Given the description of an element on the screen output the (x, y) to click on. 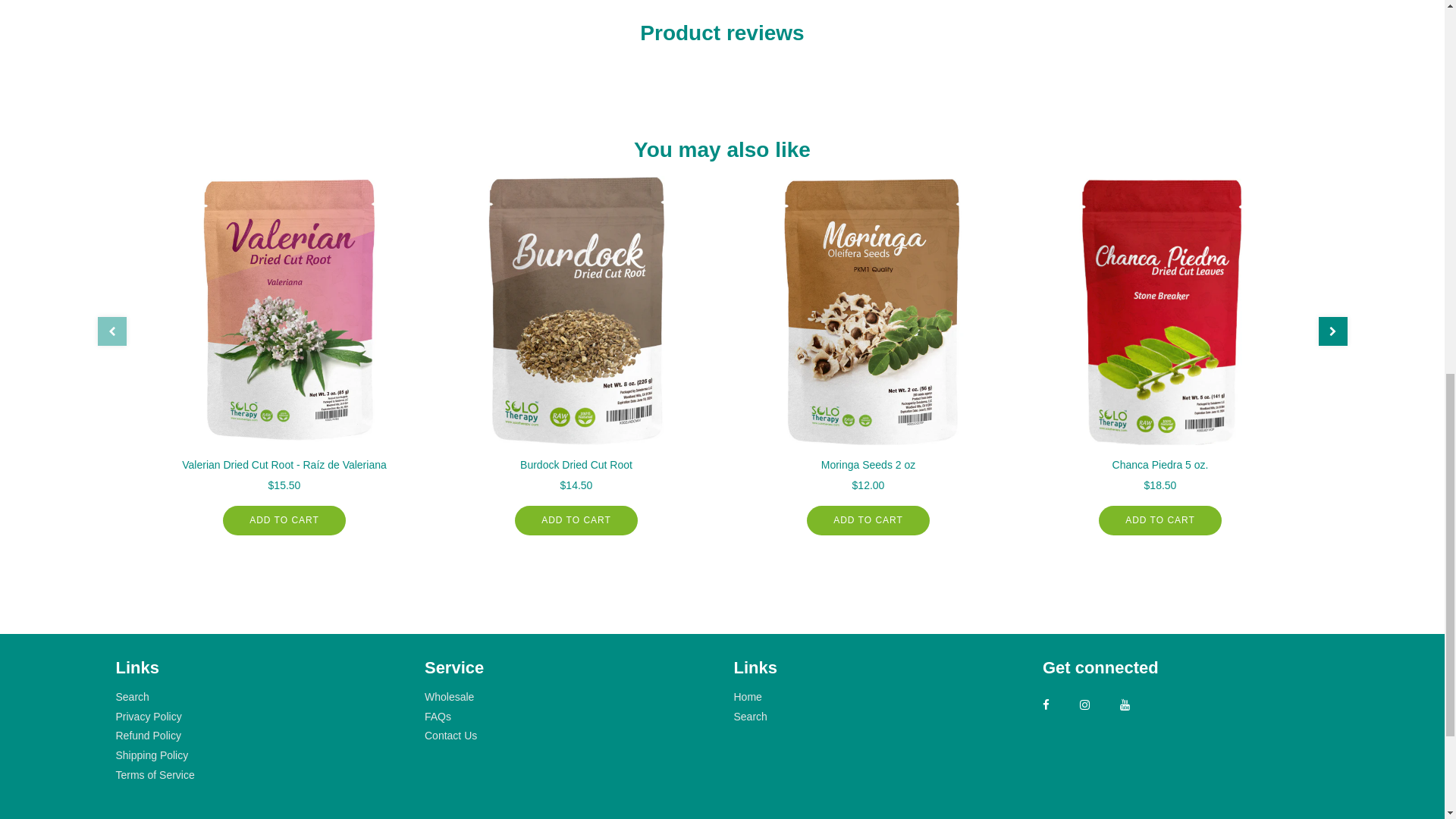
Burdock Dried Cut Root (575, 310)
Chanca Piedra 5 oz. (1159, 310)
Moringa Seeds 2 oz (868, 310)
